Given the description of an element on the screen output the (x, y) to click on. 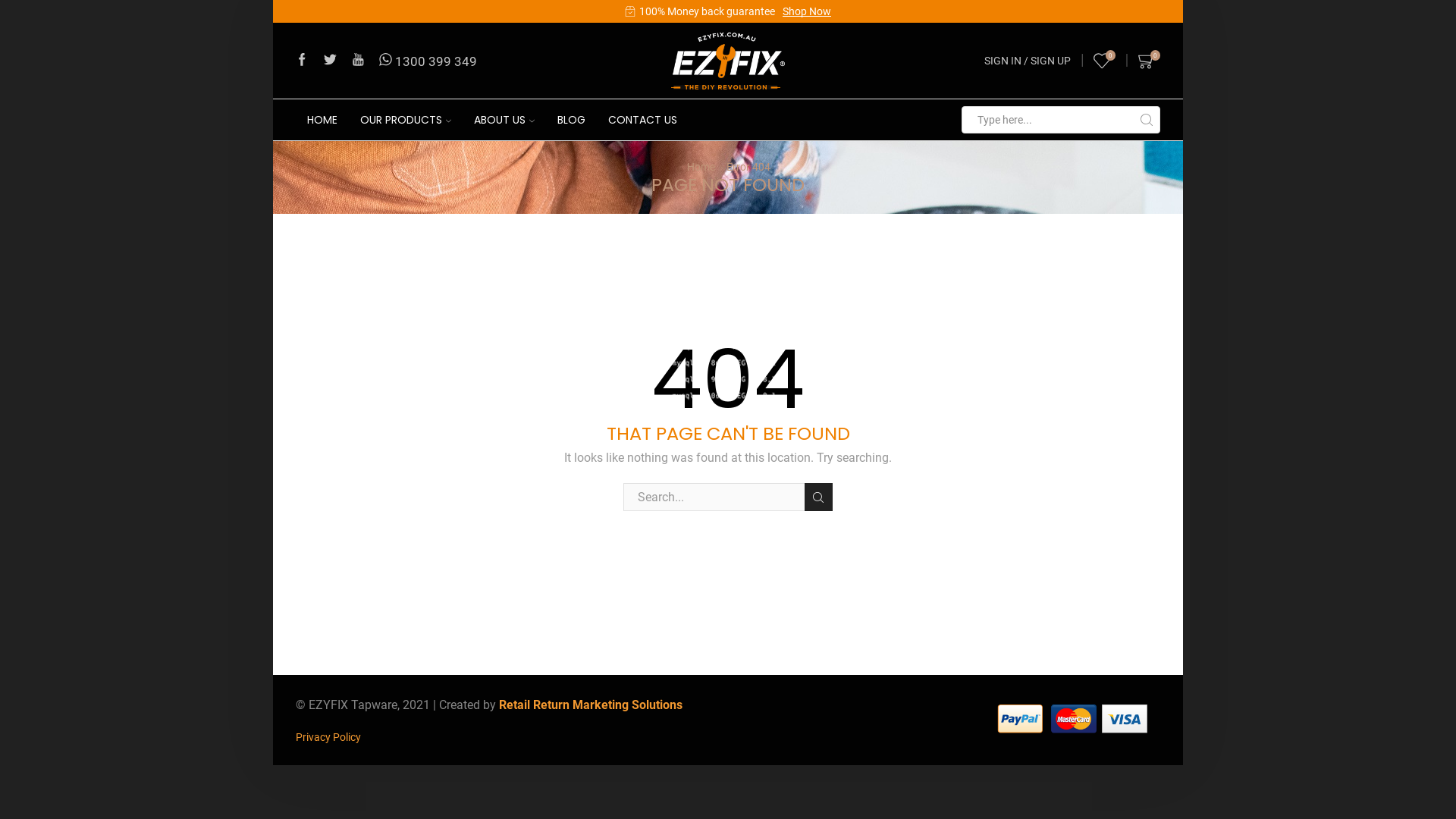
Home Element type: text (700, 166)
BLOG Element type: text (571, 119)
0 Element type: text (1104, 60)
Shop Now Element type: text (793, 11)
Twitter Element type: hover (329, 60)
SIGN IN / SIGN UP Element type: text (1027, 60)
CONTACT US Element type: text (642, 119)
OUR PRODUCTS Element type: text (405, 119)
ABOUT US Element type: text (503, 119)
Call us 1300 399 349 Element type: hover (427, 60)
HOME Element type: text (322, 119)
SEARCH Element type: text (818, 497)
0 Element type: text (1149, 60)
Youtube Element type: hover (357, 60)
Retail Return Marketing Solutions Element type: text (590, 704)
Privacy Policy Element type: text (327, 737)
Facebook Element type: hover (301, 60)
